Given the description of an element on the screen output the (x, y) to click on. 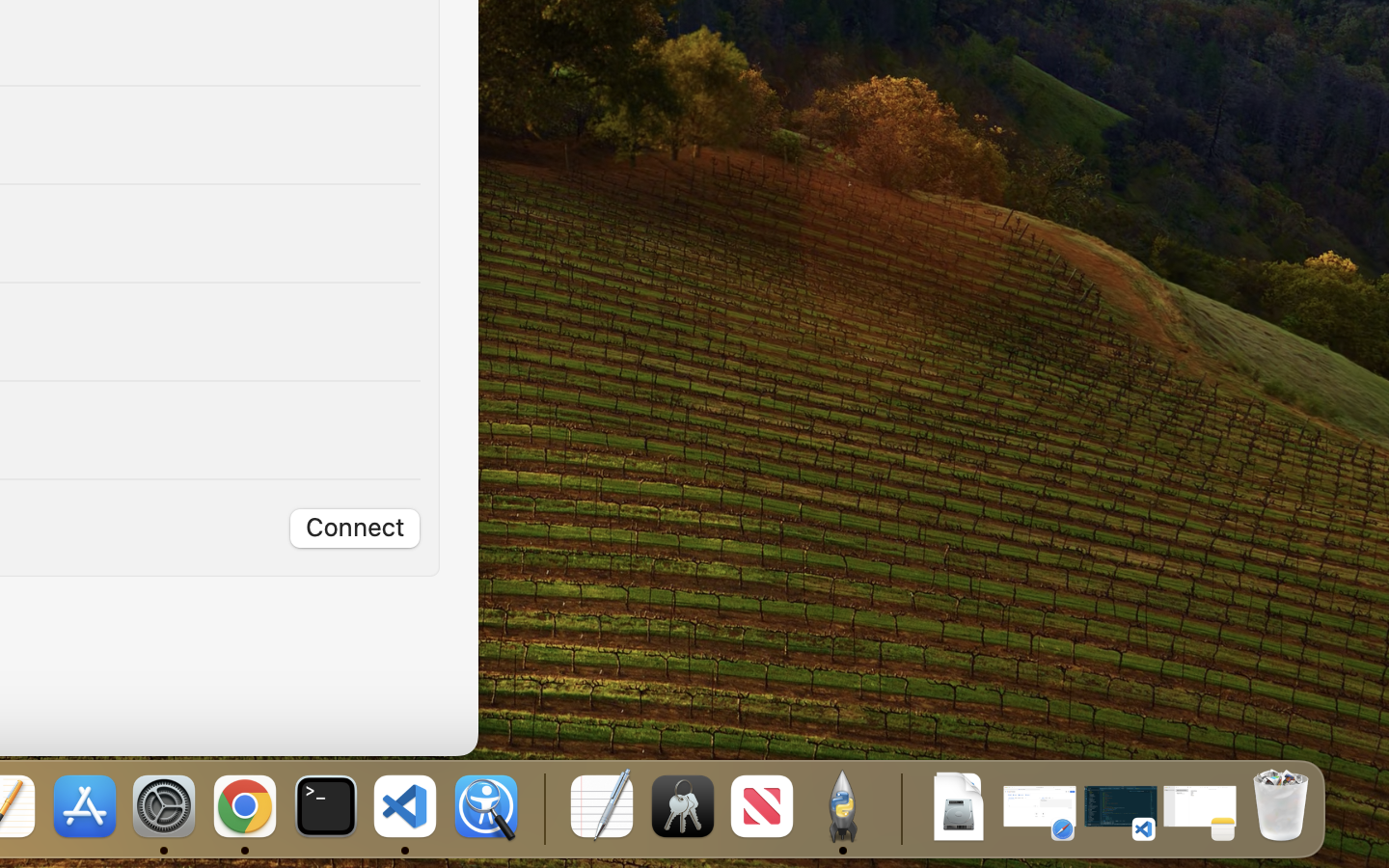
0.4285714328289032 Element type: AXDockItem (541, 807)
